Given the description of an element on the screen output the (x, y) to click on. 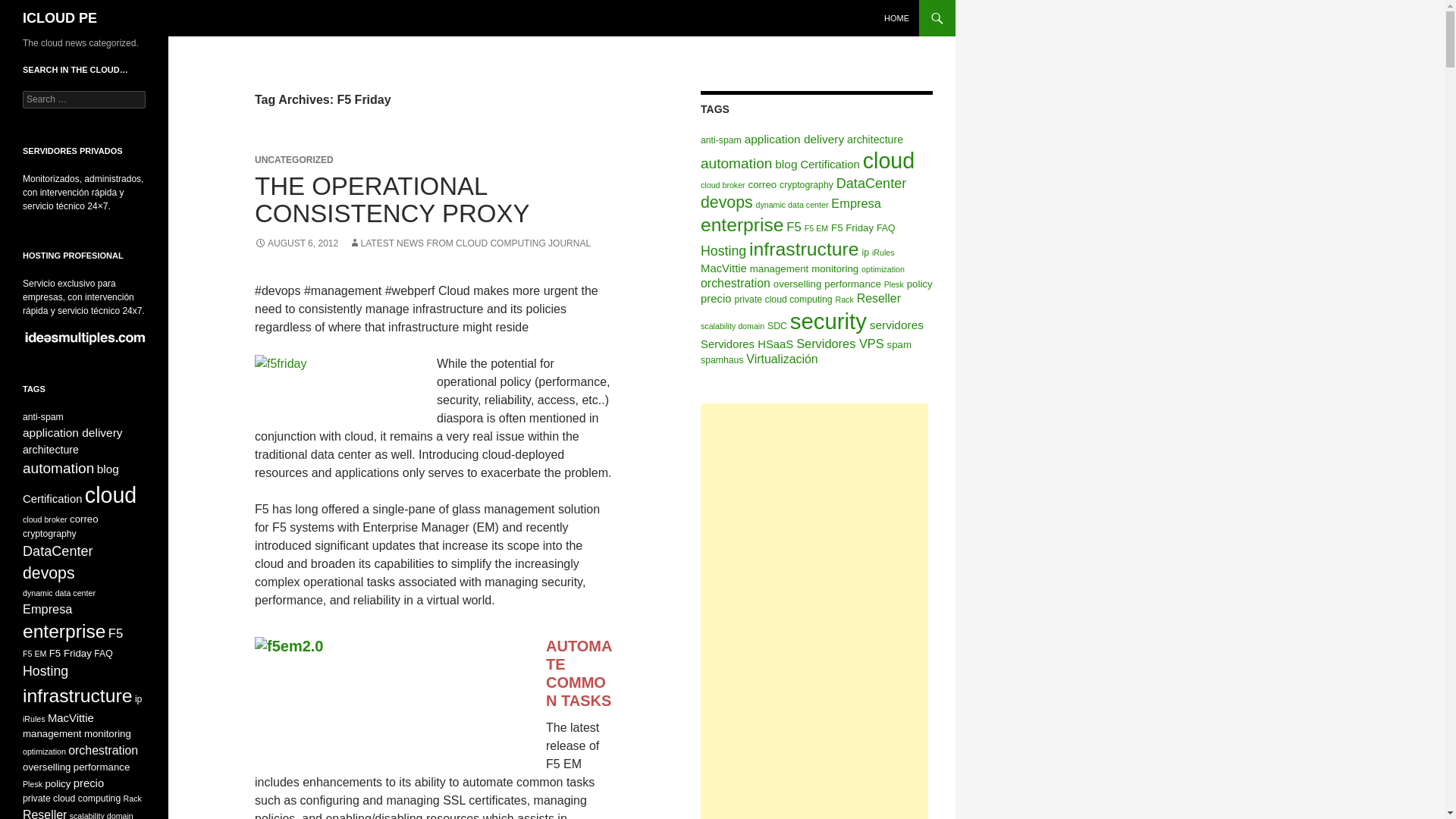
THE OPERATIONAL CONSISTENCY PROXY (391, 199)
ICLOUD PE (60, 18)
AUGUST 6, 2012 (295, 243)
HOME (896, 18)
f5friday (345, 387)
LATEST NEWS FROM CLOUD COMPUTING JOURNAL (470, 243)
f5em2.0 (400, 704)
